Given the description of an element on the screen output the (x, y) to click on. 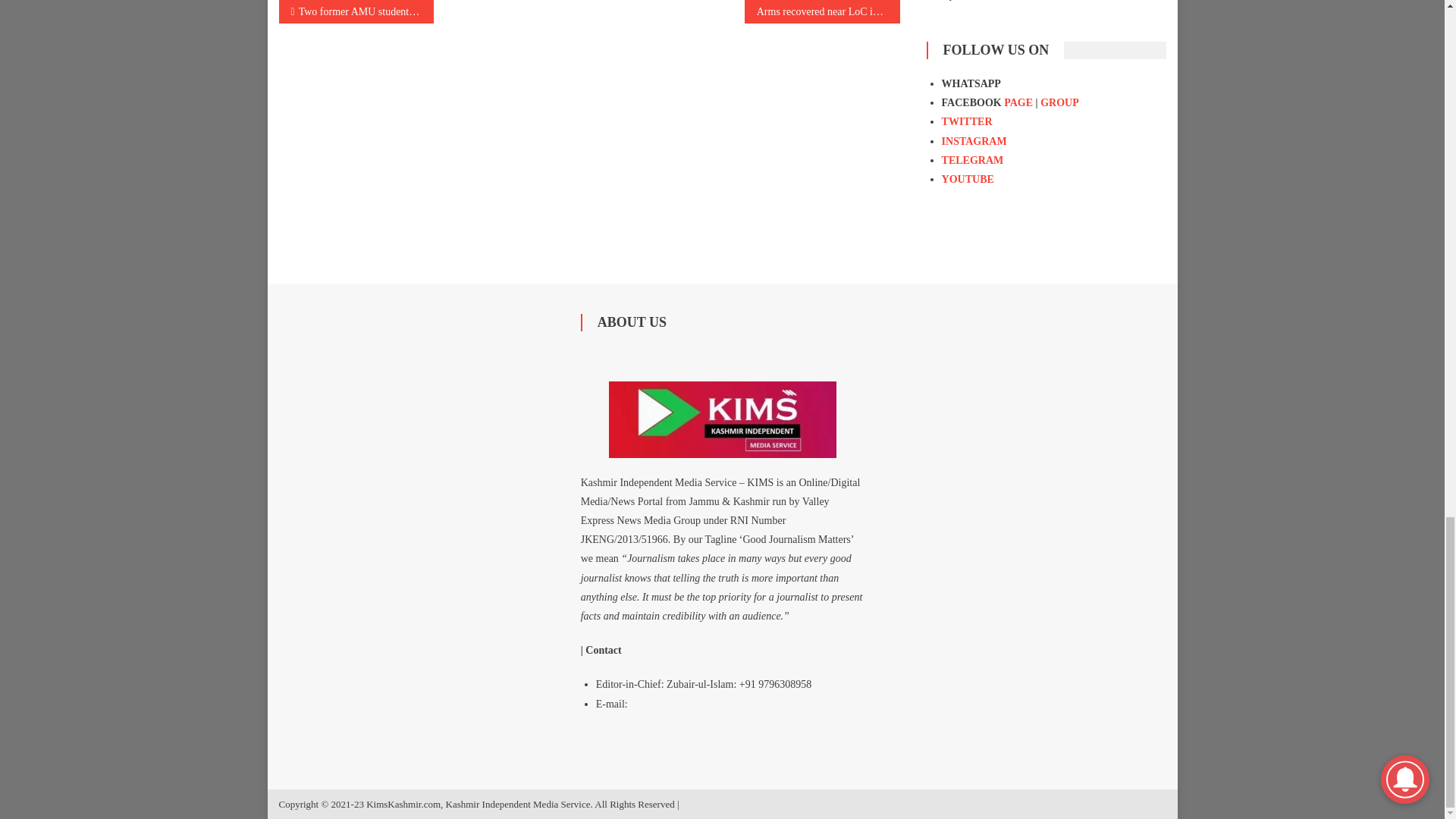
Arms recovered near LoC in Kupwara (821, 11)
Two former AMU students arrested for alleged IS links (356, 11)
